Given the description of an element on the screen output the (x, y) to click on. 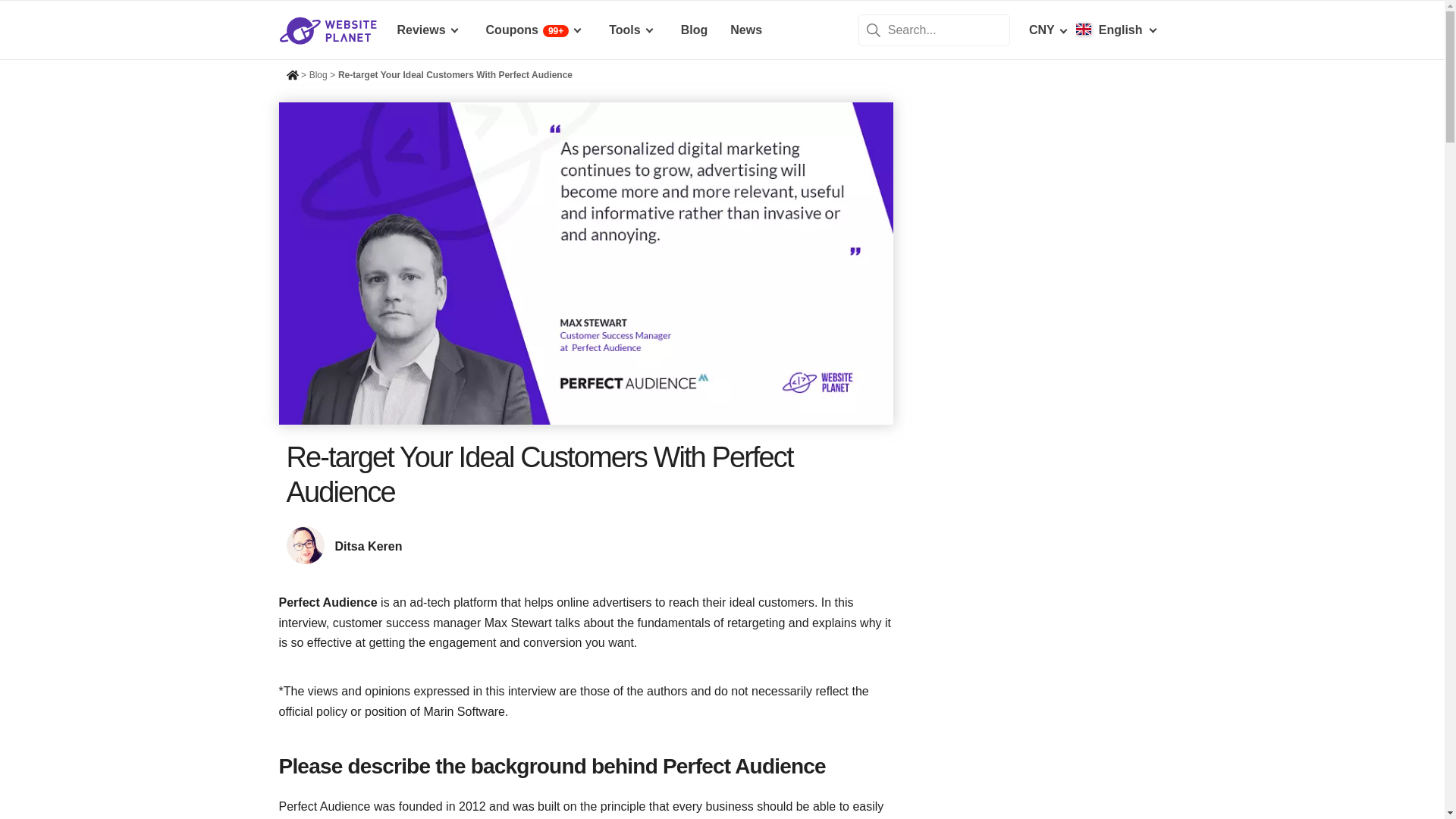
Search (873, 29)
Search (873, 29)
